Given the description of an element on the screen output the (x, y) to click on. 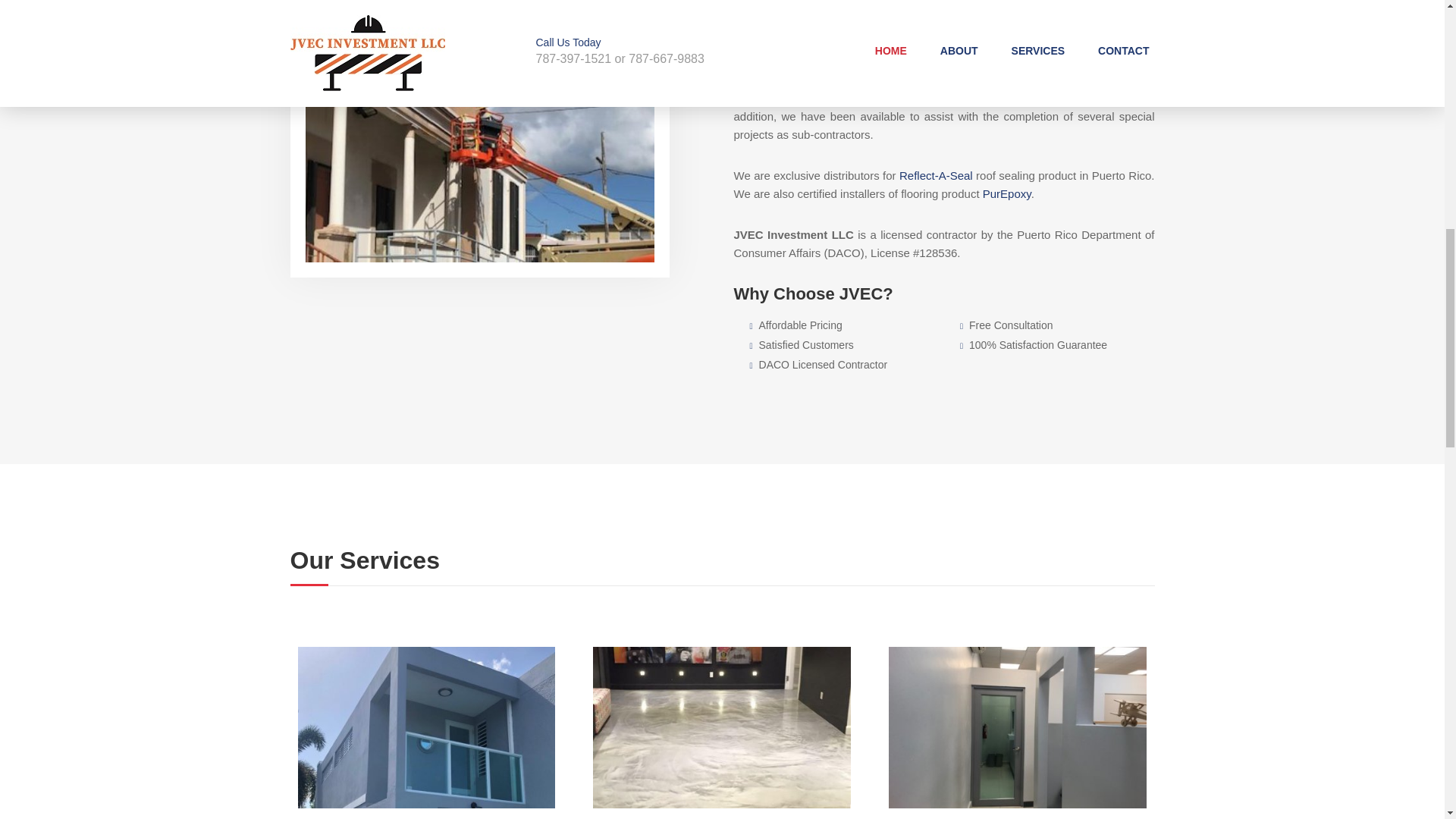
PurEpoxy (1006, 193)
Reflect-A-Seal (935, 174)
